Given the description of an element on the screen output the (x, y) to click on. 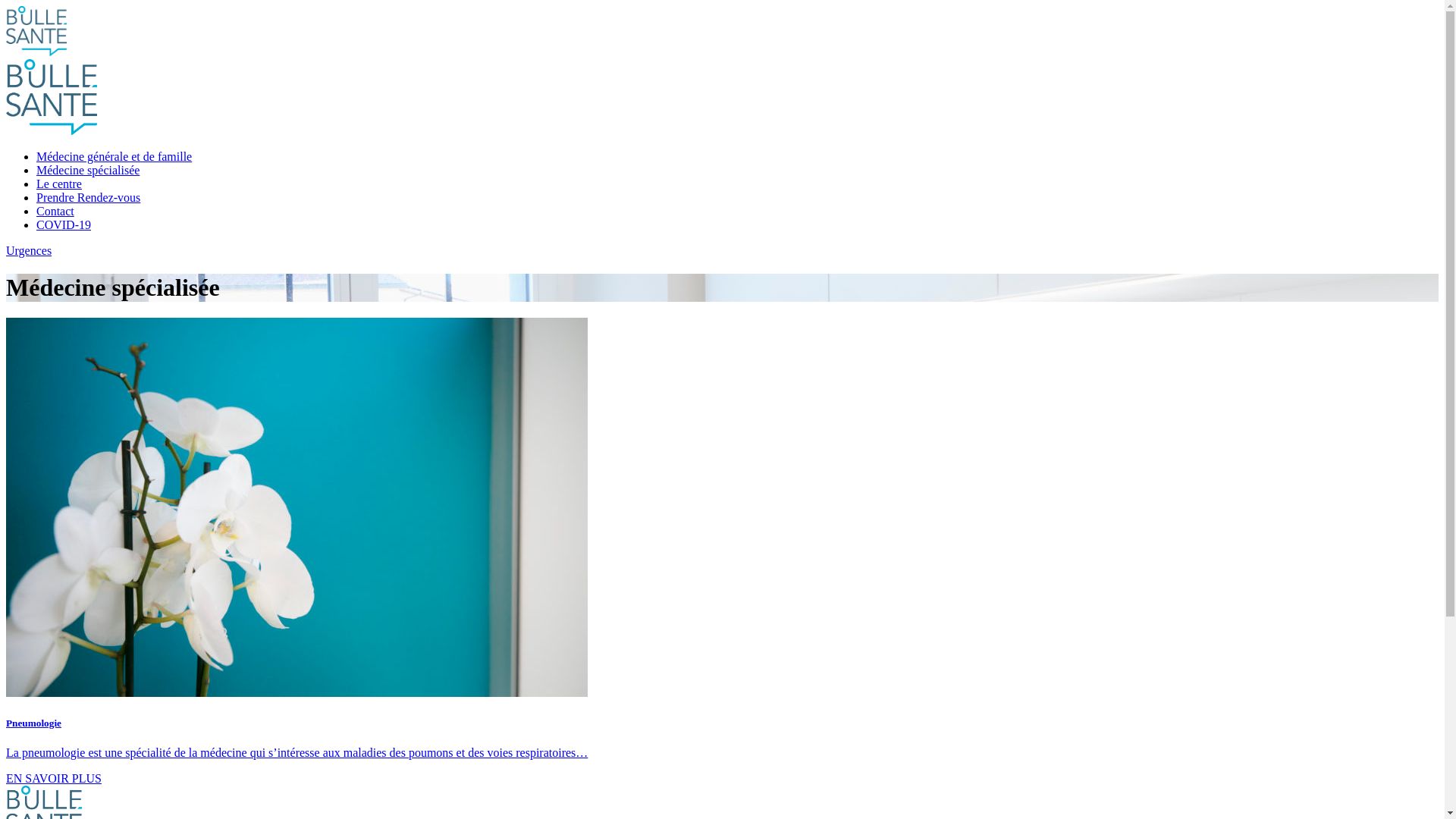
Prendre Rendez-vous Element type: text (88, 197)
Le centre Element type: text (58, 183)
Urgences Element type: text (722, 250)
Contact Element type: text (55, 210)
COVID-19 Element type: text (63, 224)
